Given the description of an element on the screen output the (x, y) to click on. 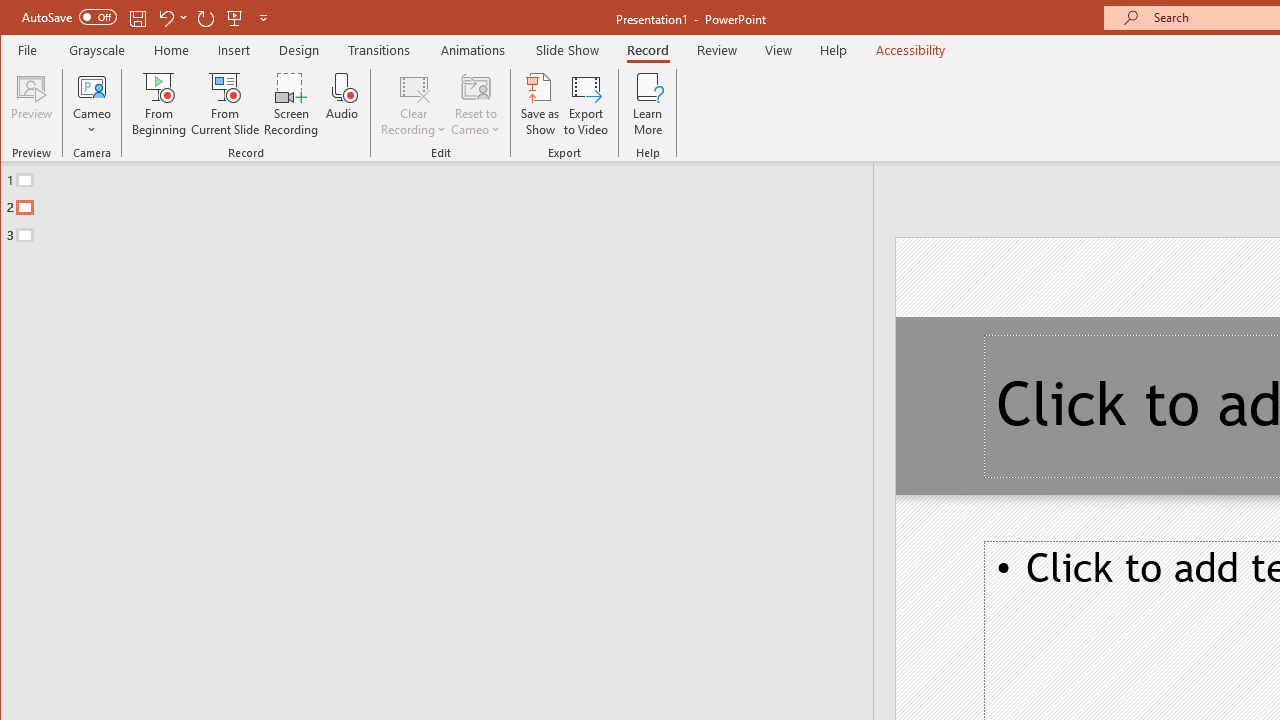
Screen Recording (291, 104)
Grayscale (97, 50)
Audio (342, 104)
